Given the description of an element on the screen output the (x, y) to click on. 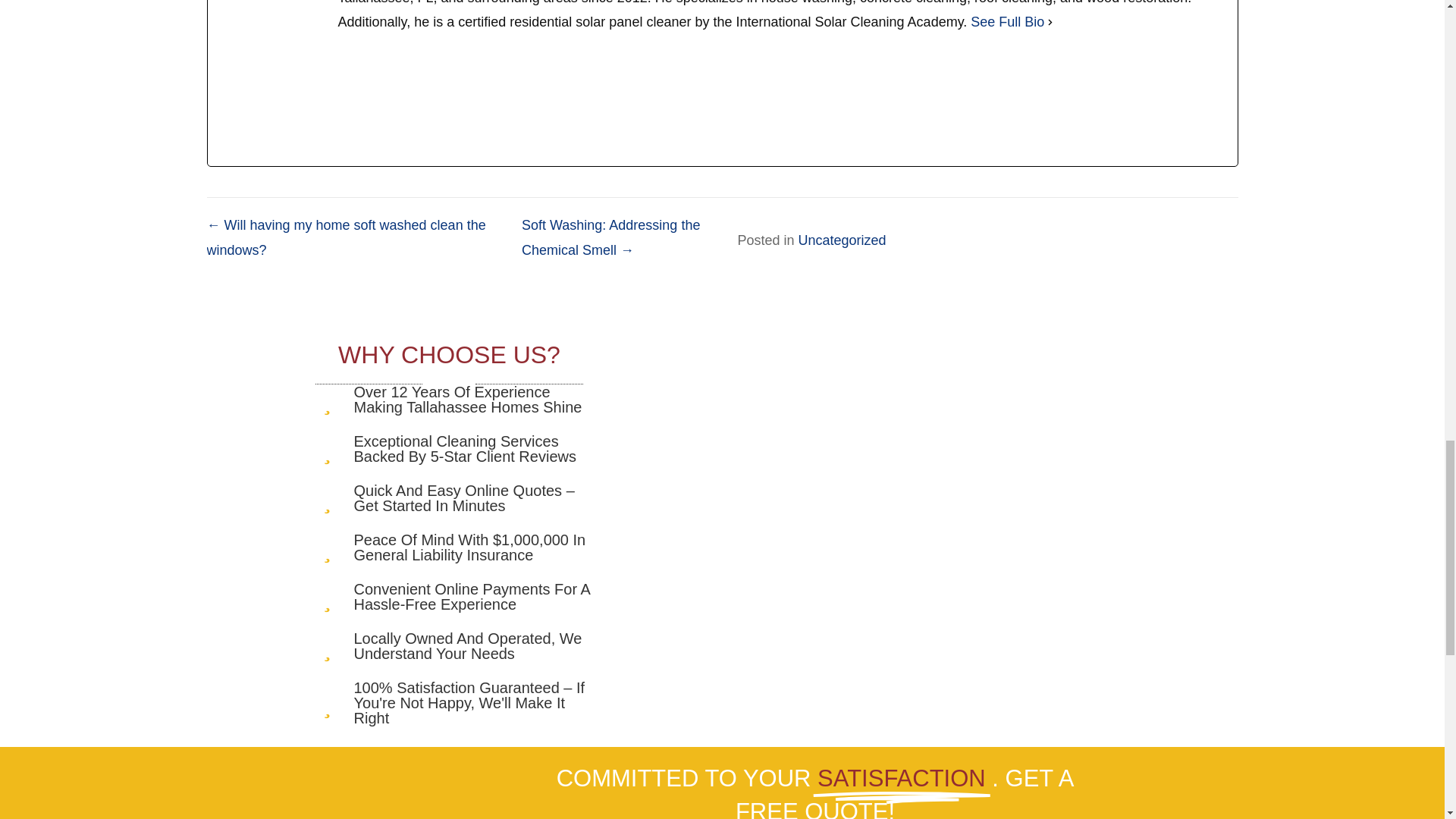
Uncategorized (841, 240)
See Full Bio (1007, 21)
